Given the description of an element on the screen output the (x, y) to click on. 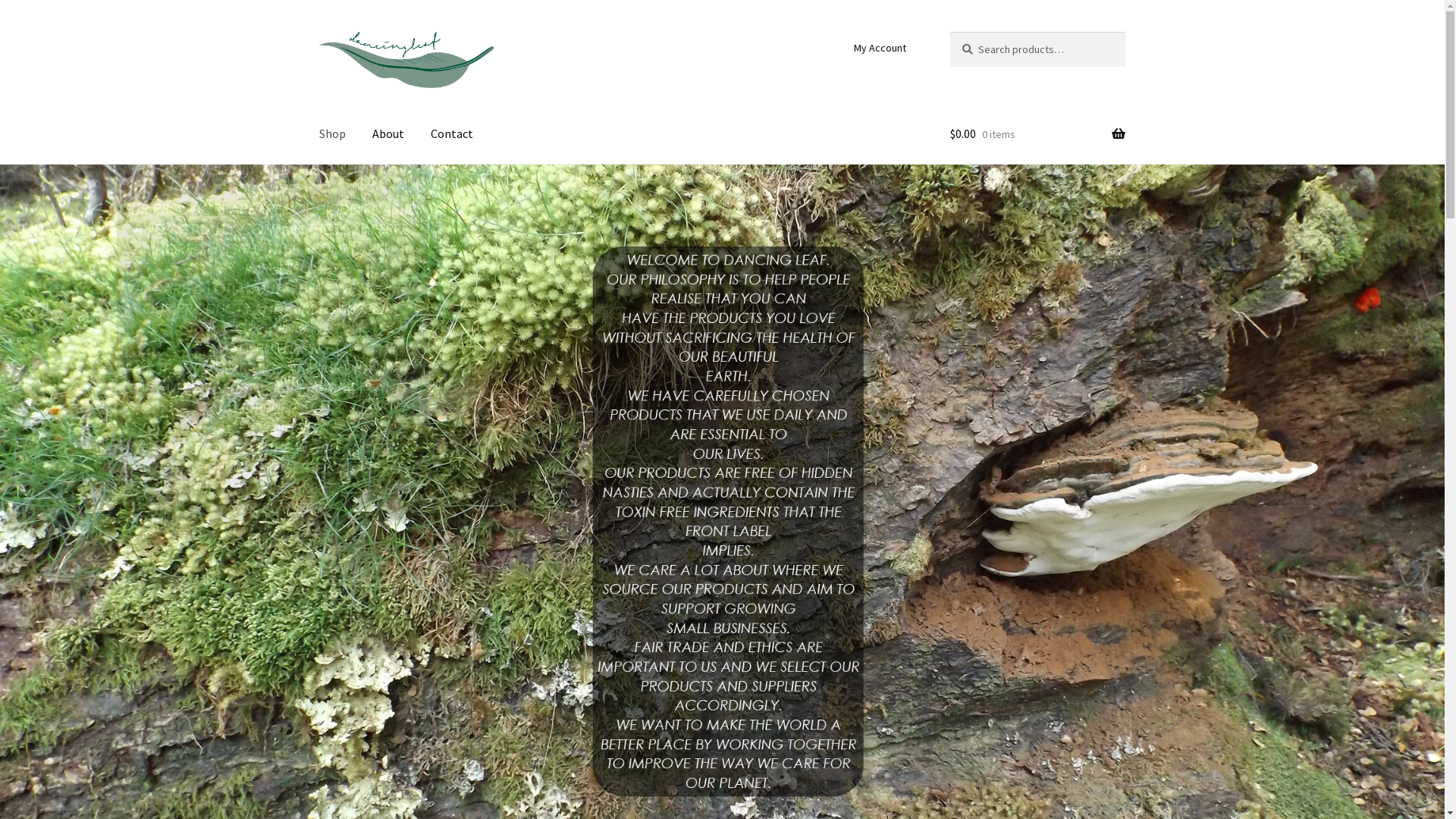
Skip to navigation Element type: text (318, 62)
Shop Element type: text (332, 164)
Search Element type: text (949, 62)
Contact Element type: text (451, 164)
$0.00 0 items Element type: text (1037, 164)
My Account Element type: text (879, 78)
About Element type: text (388, 164)
